Given the description of an element on the screen output the (x, y) to click on. 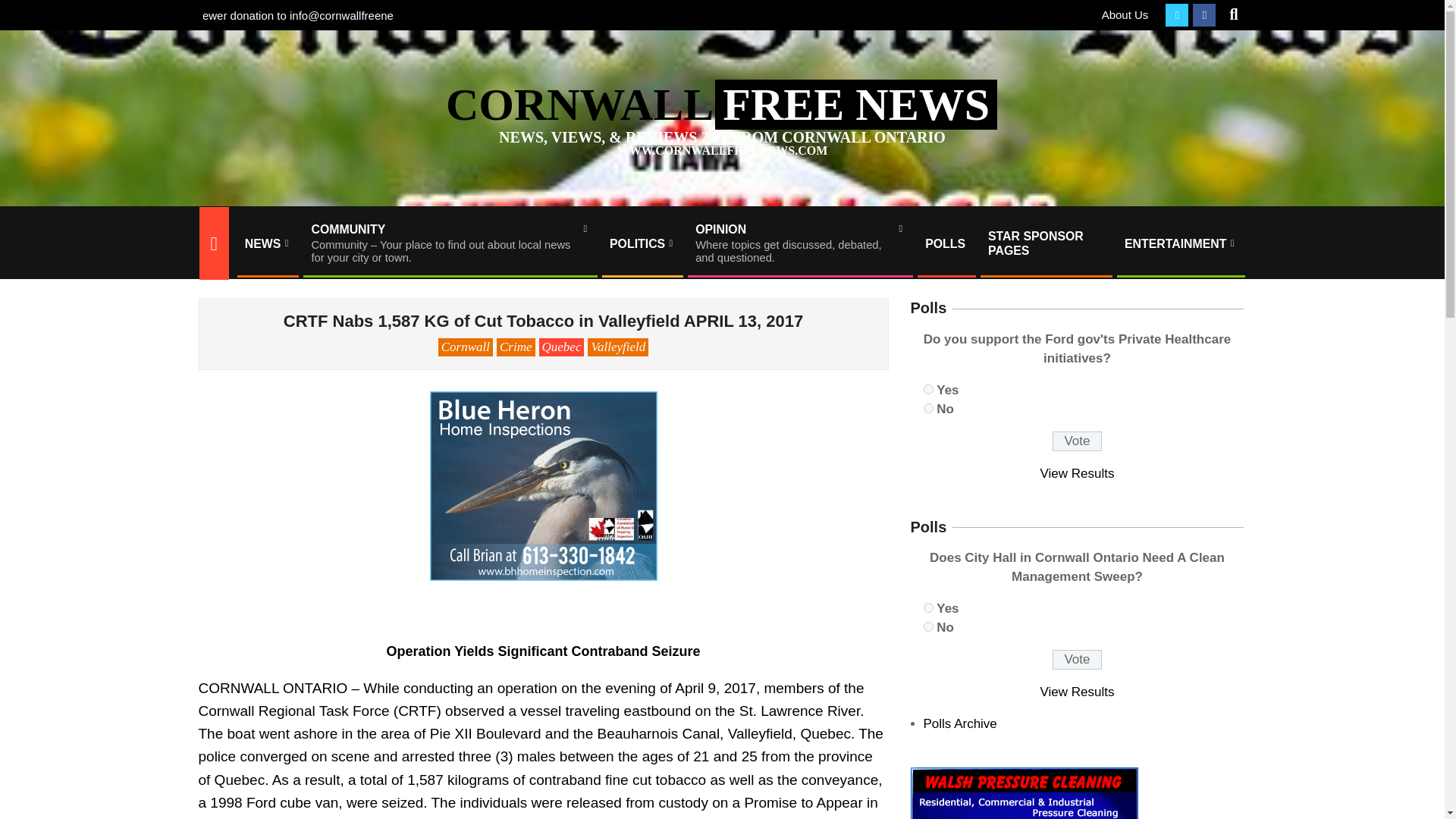
STAR SPONSOR PAGES (1044, 243)
1777 (928, 408)
About Us (1125, 14)
1776 (799, 243)
ENTERTAINMENT (928, 388)
NEWS (1179, 243)
View Results Of This Poll (265, 243)
POLITICS (1078, 473)
Search (641, 243)
View Results Of This Poll (24, 9)
   Vote    (1078, 691)
   Vote    (1076, 441)
POLLS (1076, 659)
1771 (945, 243)
